Given the description of an element on the screen output the (x, y) to click on. 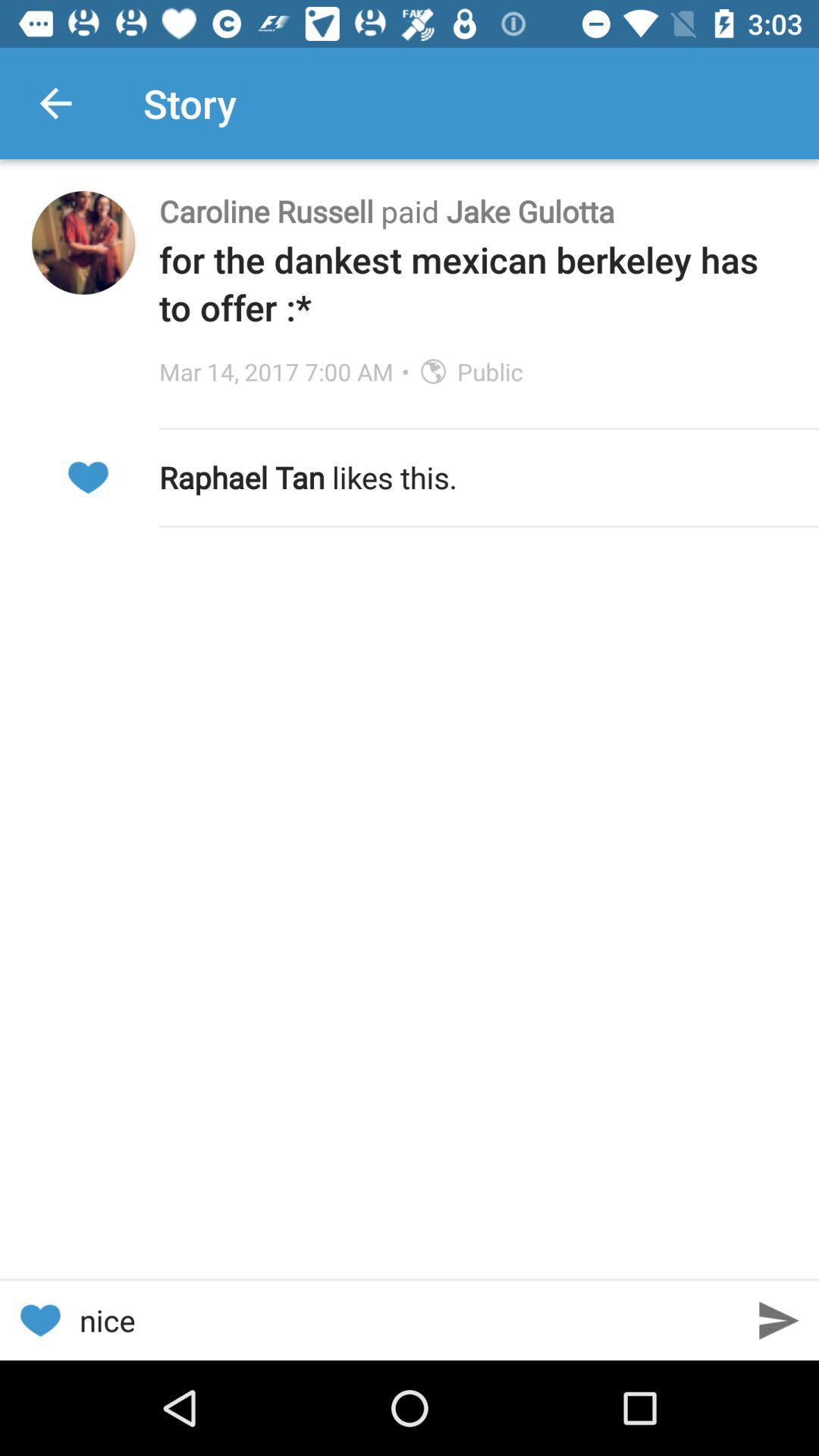
press for the dankest (473, 283)
